Given the description of an element on the screen output the (x, y) to click on. 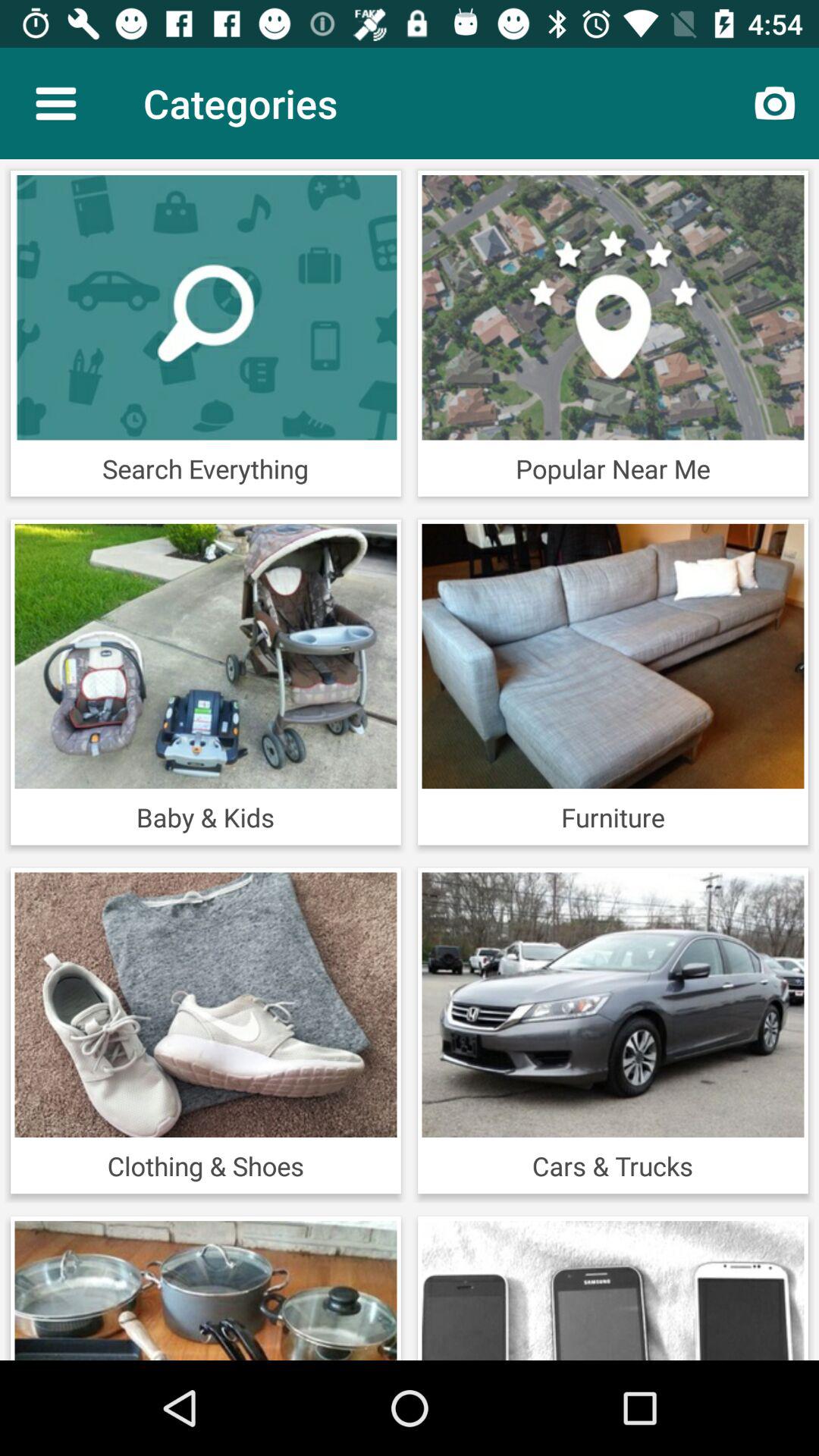
choose the item next to categories icon (775, 103)
